Given the description of an element on the screen output the (x, y) to click on. 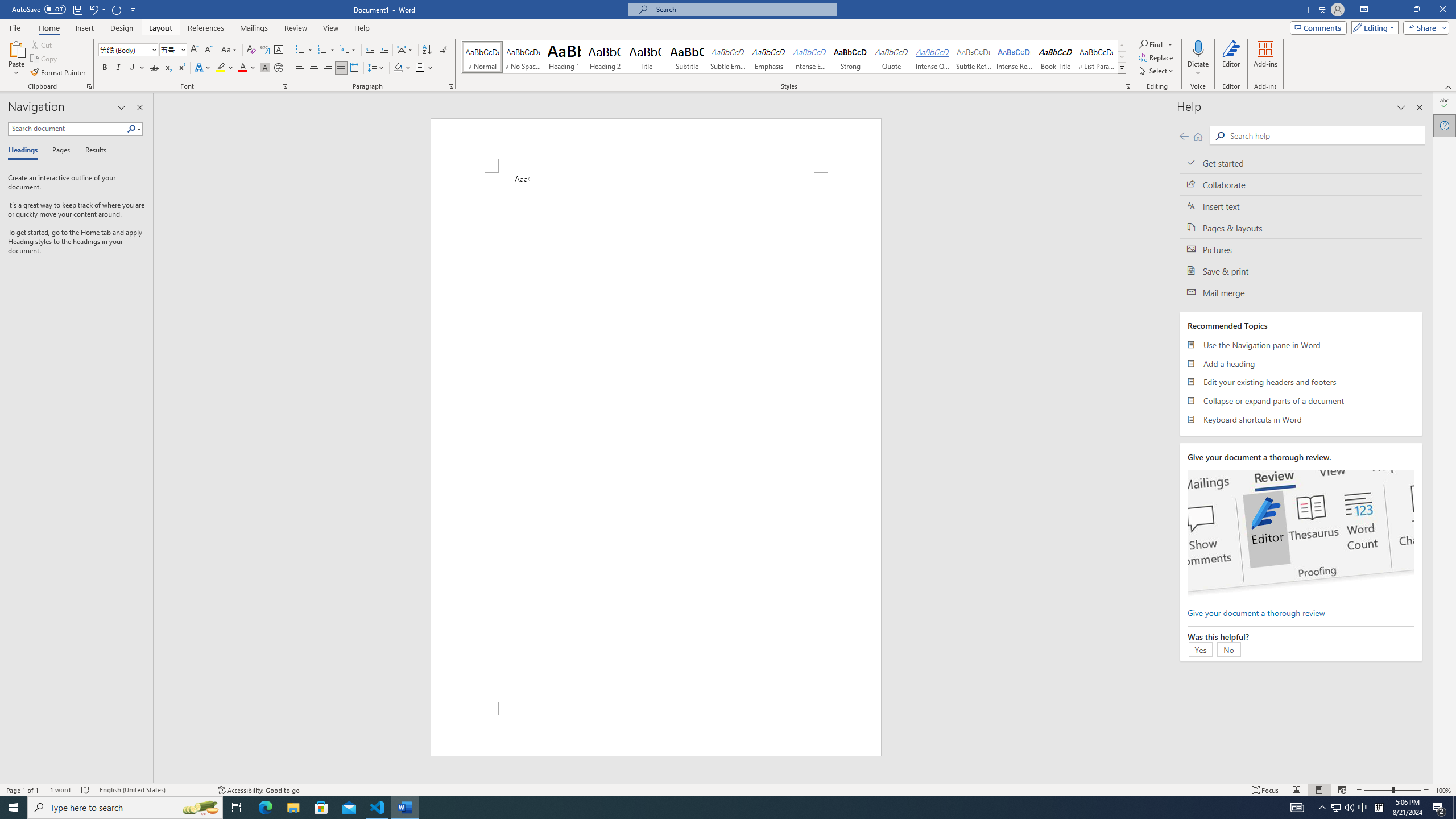
Insert text (1300, 206)
Paragraph... (450, 85)
Undo Increase Indent (96, 9)
Page Number Page 1 of 1 (22, 790)
Text Highlight Color Yellow (220, 67)
Select (1157, 69)
Results (91, 150)
Character Border (278, 49)
Cut (42, 44)
Strikethrough (154, 67)
Enclose Characters... (278, 67)
